Given the description of an element on the screen output the (x, y) to click on. 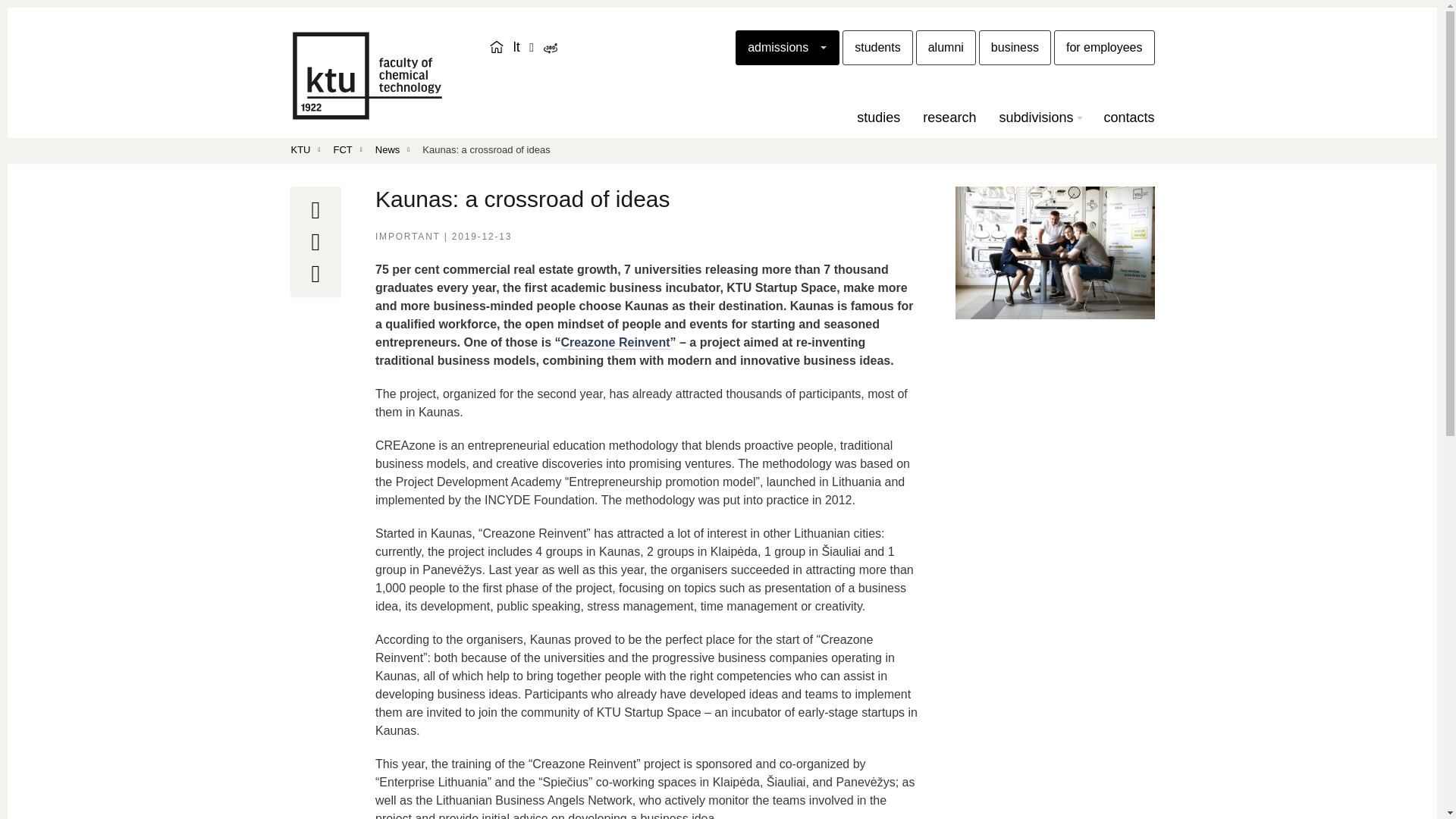
for employees (1104, 47)
studies (878, 117)
contacts (1129, 117)
business (1014, 47)
students (877, 47)
Faculty of Chemical Technology (366, 75)
KTU Virtual Tour (549, 48)
students (877, 47)
en.ktu.edu (496, 47)
research (949, 117)
